Given the description of an element on the screen output the (x, y) to click on. 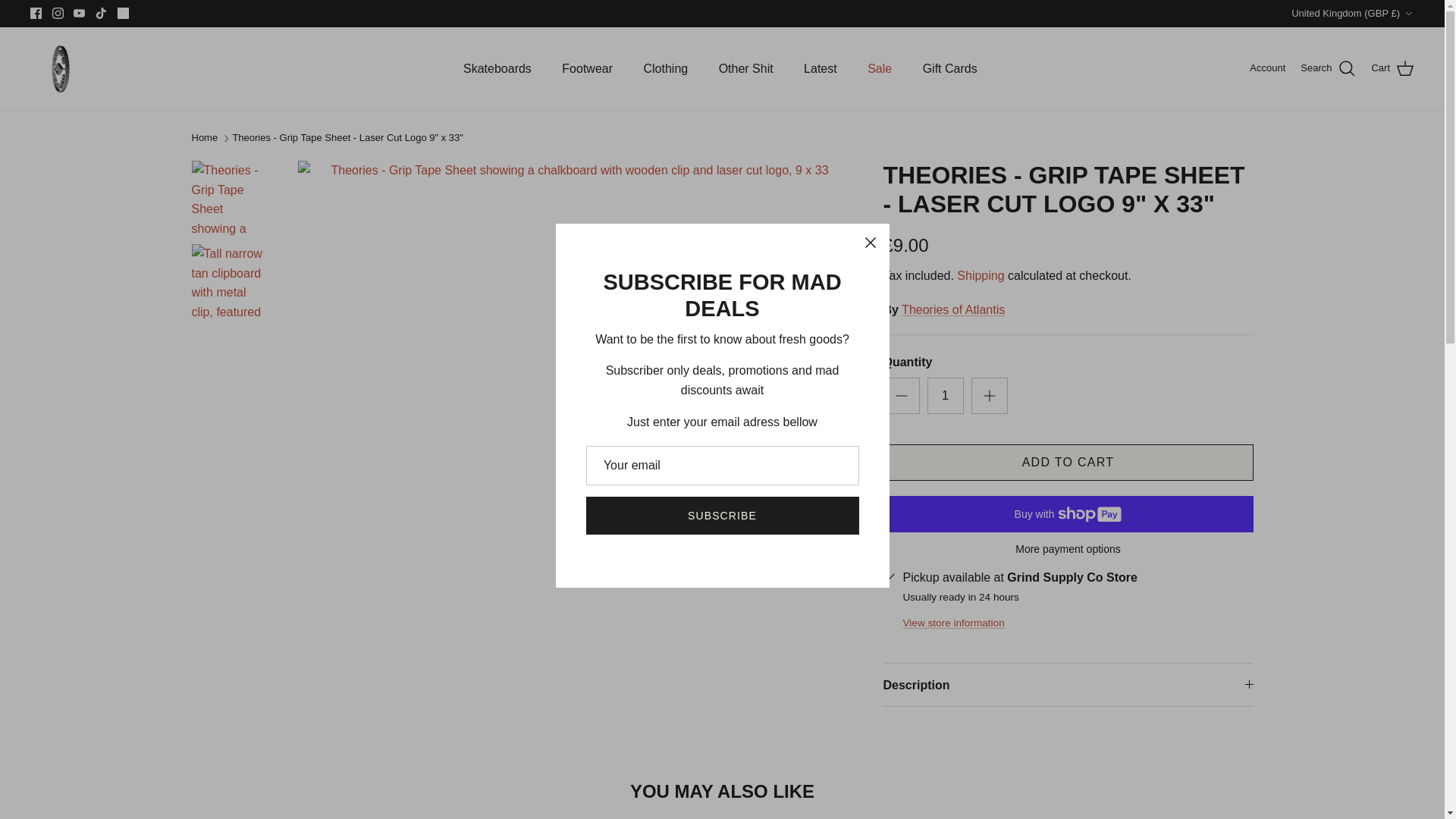
Instagram (58, 12)
Facebook (36, 12)
Minus (900, 395)
Plus (988, 395)
Instagram (58, 12)
Youtube (79, 12)
Grind Supply Co (56, 68)
Facebook (36, 12)
Down (1408, 13)
Youtube (79, 12)
